Given the description of an element on the screen output the (x, y) to click on. 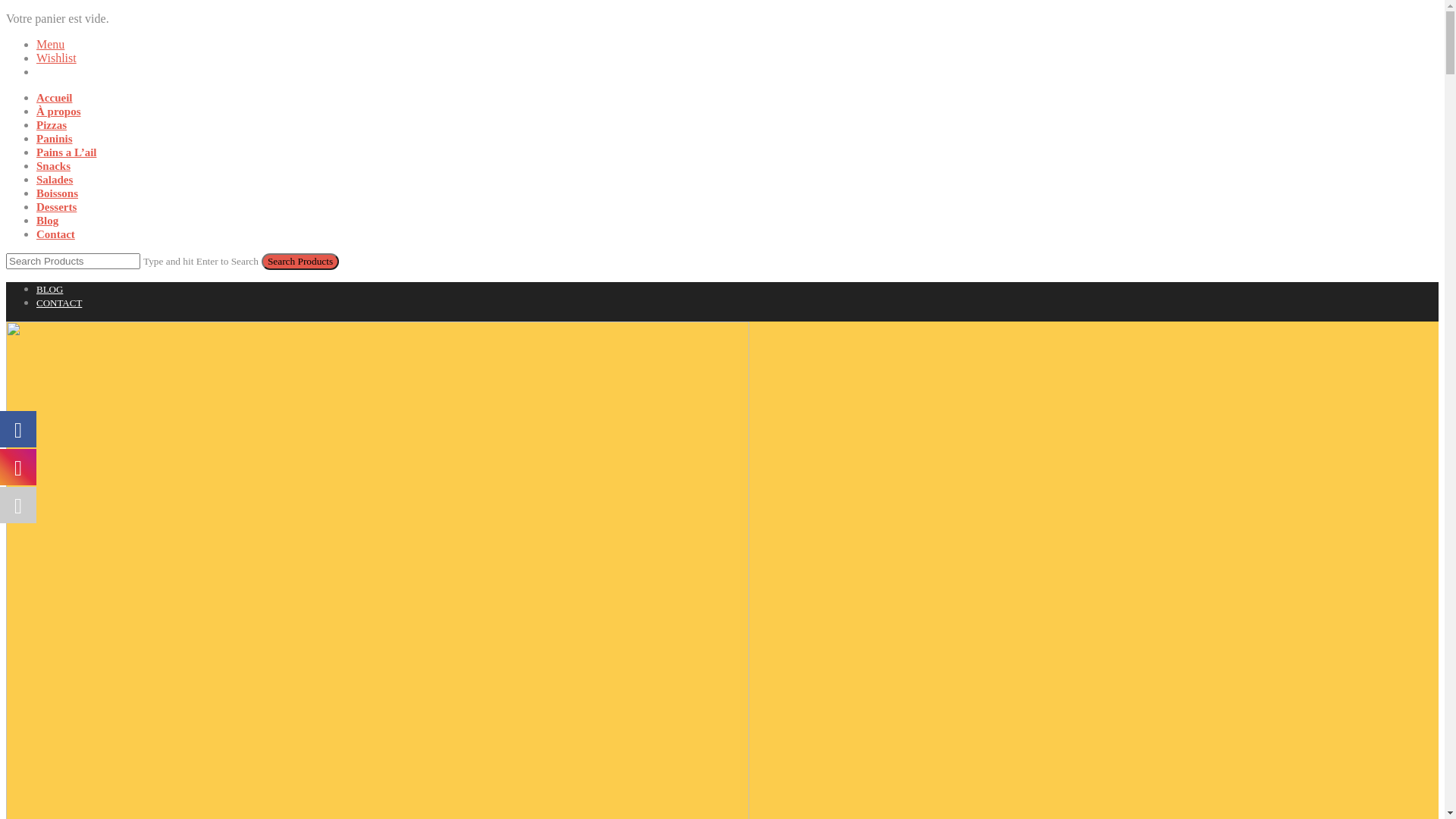
Paninis Element type: text (54, 138)
BLOG Element type: text (49, 288)
Menu Element type: text (50, 43)
Blog Element type: text (47, 220)
Snacks Element type: text (53, 166)
Accueil Element type: text (54, 97)
Salades Element type: text (54, 179)
Search Products Element type: text (299, 261)
CONTACT Element type: text (58, 302)
Pizzas Element type: text (51, 125)
Desserts Element type: text (56, 206)
Wishlist Element type: text (56, 57)
Contact Element type: text (55, 234)
Boissons Element type: text (57, 193)
